Given the description of an element on the screen output the (x, y) to click on. 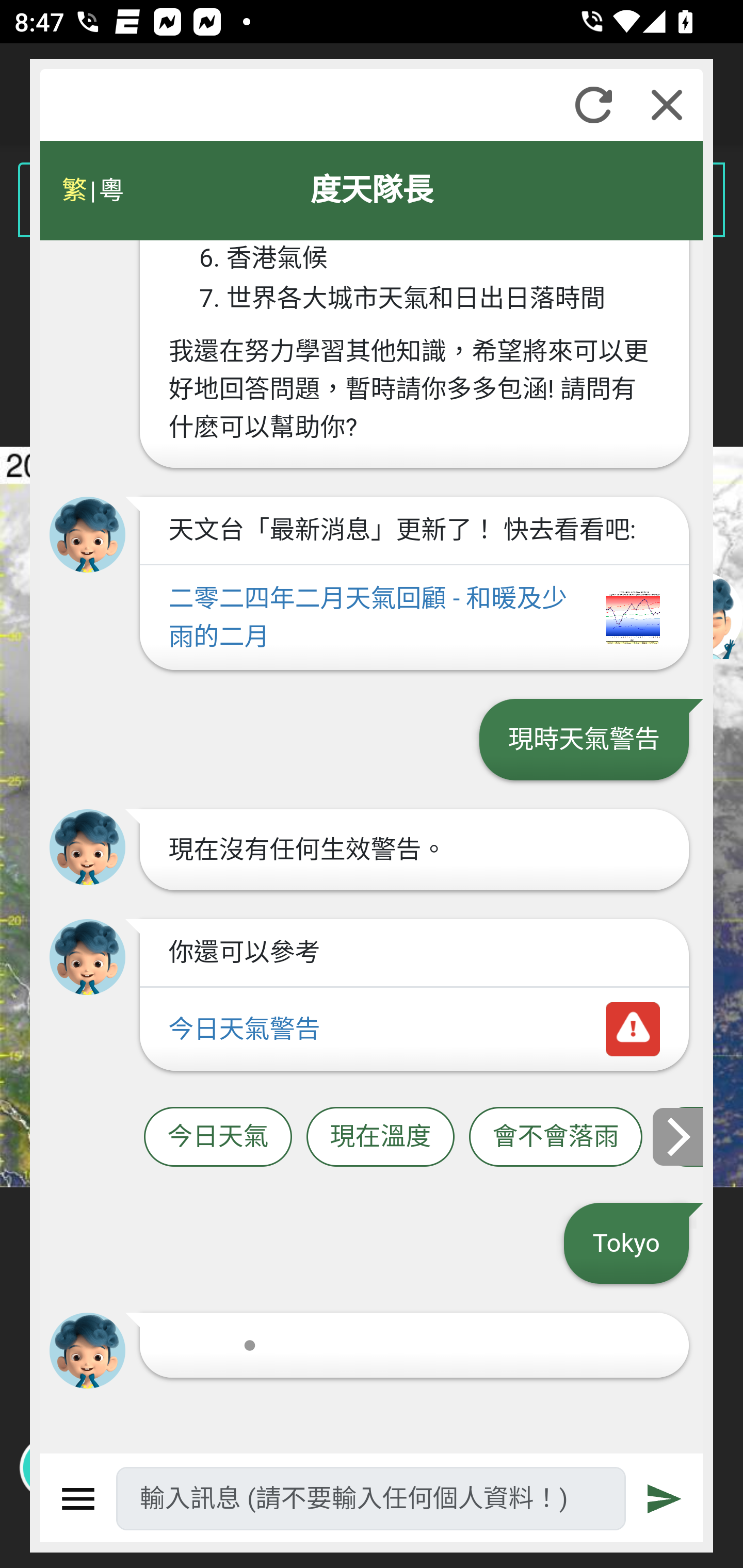
重新整理 (593, 104)
關閉 (666, 104)
繁 (73, 190)
粵 (110, 190)
二零二四年二月天氣回顧 - 和暖及少雨的二月 (413, 617)
今日天氣警告 (413, 1029)
今日天氣 (217, 1137)
現在溫度 (380, 1137)
會不會落雨 (555, 1137)
下一張 (678, 1136)
選單 (78, 1498)
遞交 (665, 1498)
